Given the description of an element on the screen output the (x, y) to click on. 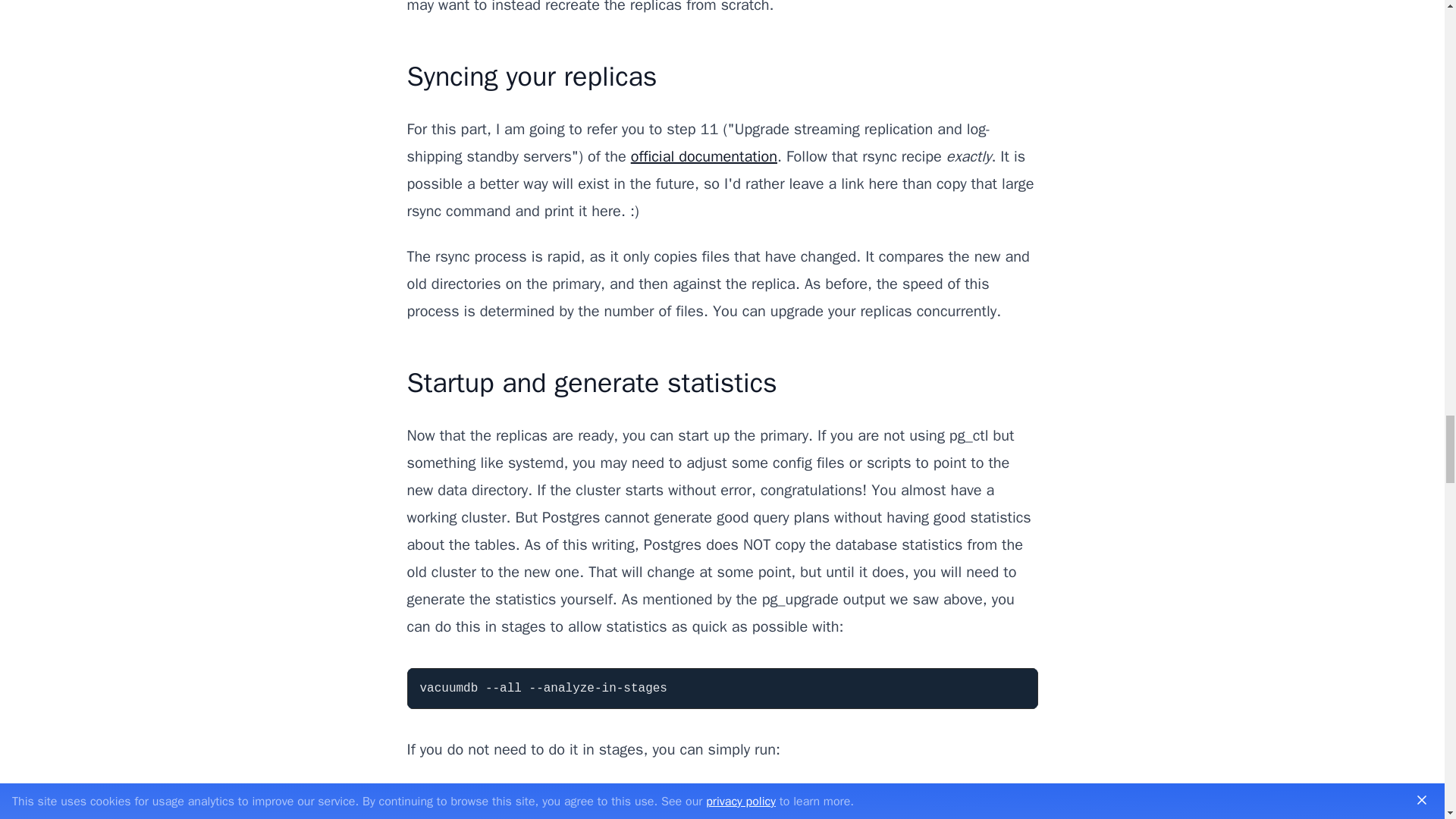
official documentation (703, 156)
Startup and generate statistics (591, 382)
Syncing your replicas (531, 76)
